Given the description of an element on the screen output the (x, y) to click on. 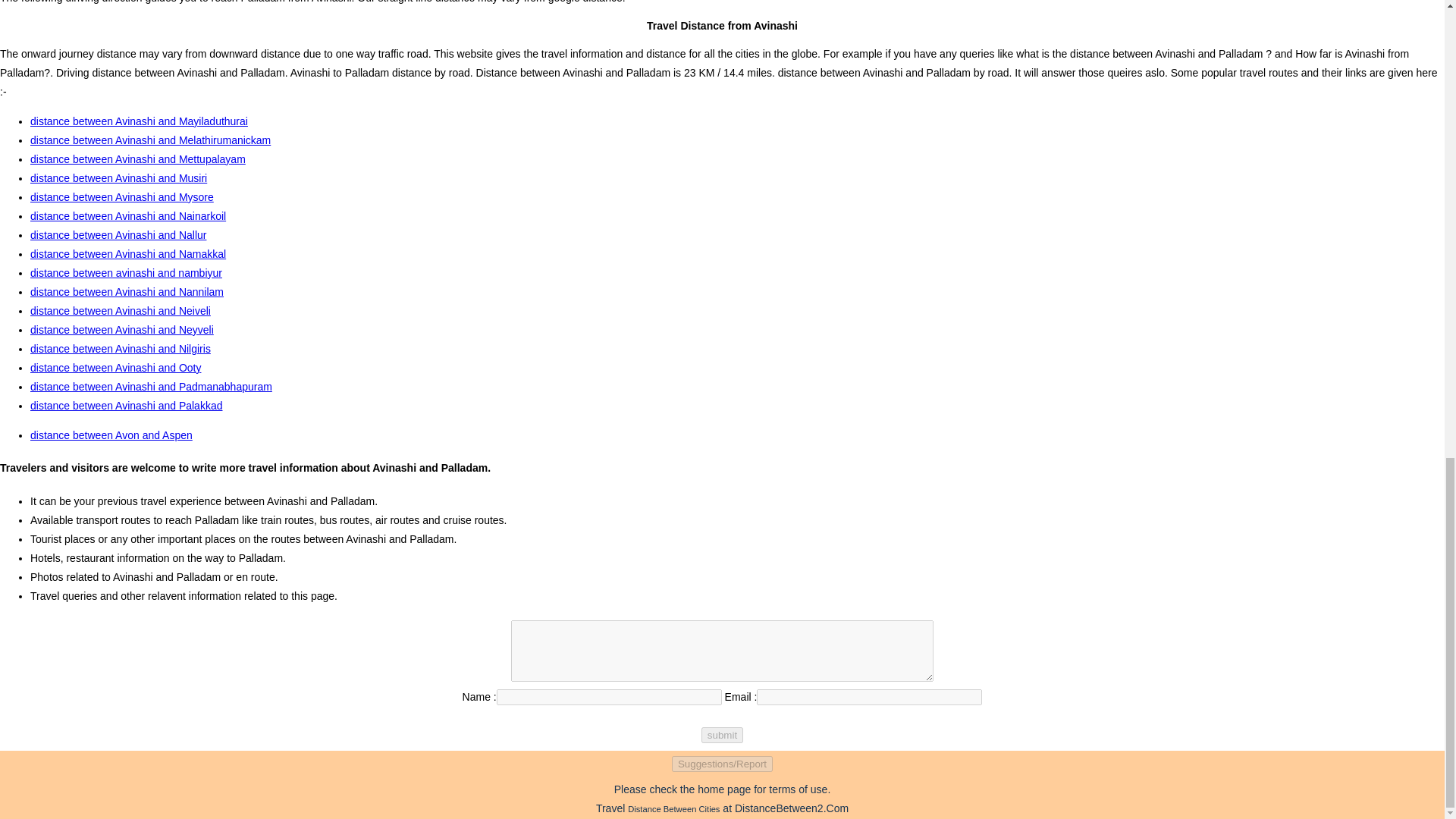
submit (721, 734)
distance between Avinashi and Nallur (118, 234)
distance between Avinashi and Ooty (115, 367)
Distance Between Cities (673, 809)
distance between Avinashi and Melathirumanickam (150, 140)
distance between Avon and Aspen (111, 435)
distance between avinashi and nambiyur (126, 272)
distance between Avinashi and Mysore (122, 196)
distance between Avinashi and Mettupalayam (138, 159)
distance between Avinashi and Neyveli (122, 329)
submit (721, 734)
distance between Avinashi and Nannilam (127, 291)
distance between Avinashi and Palakkad (126, 405)
distance between Avinashi and Nainarkoil (127, 215)
distance between Avinashi and Nilgiris (120, 348)
